Given the description of an element on the screen output the (x, y) to click on. 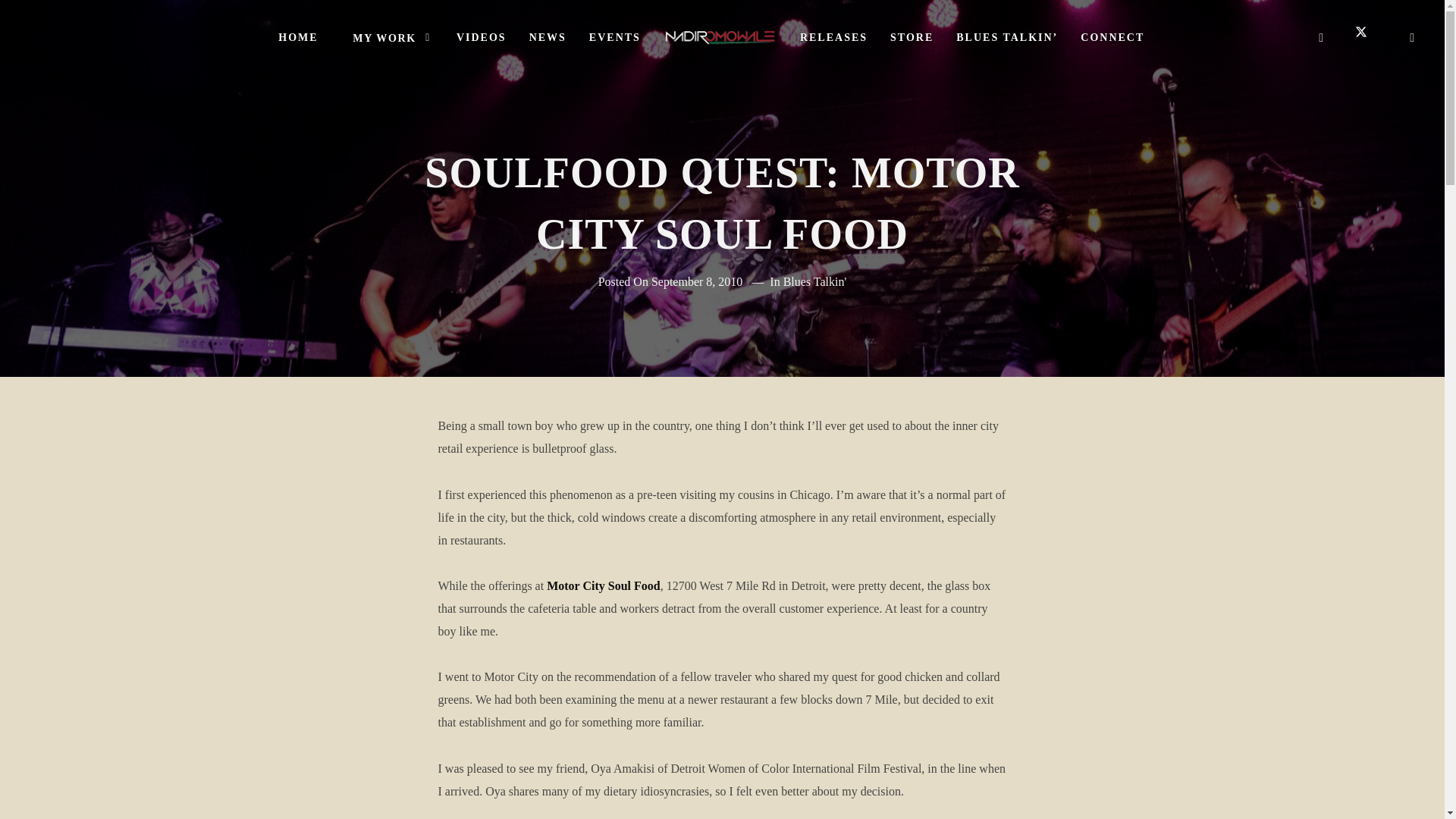
facebook (1320, 37)
EVENTS (615, 38)
MY WORK (387, 38)
EVENTS (615, 38)
instagram (1412, 37)
VIDEOS (481, 38)
CONNECT (1112, 38)
Blues Talkin' (815, 281)
twitter (1366, 37)
View all posts in the Blues Talkin' category (815, 281)
RELEASES (834, 38)
Motor City Soul Food (603, 585)
RELEASES (834, 38)
VIDEOS (481, 38)
CONNECT (1112, 38)
